Given the description of an element on the screen output the (x, y) to click on. 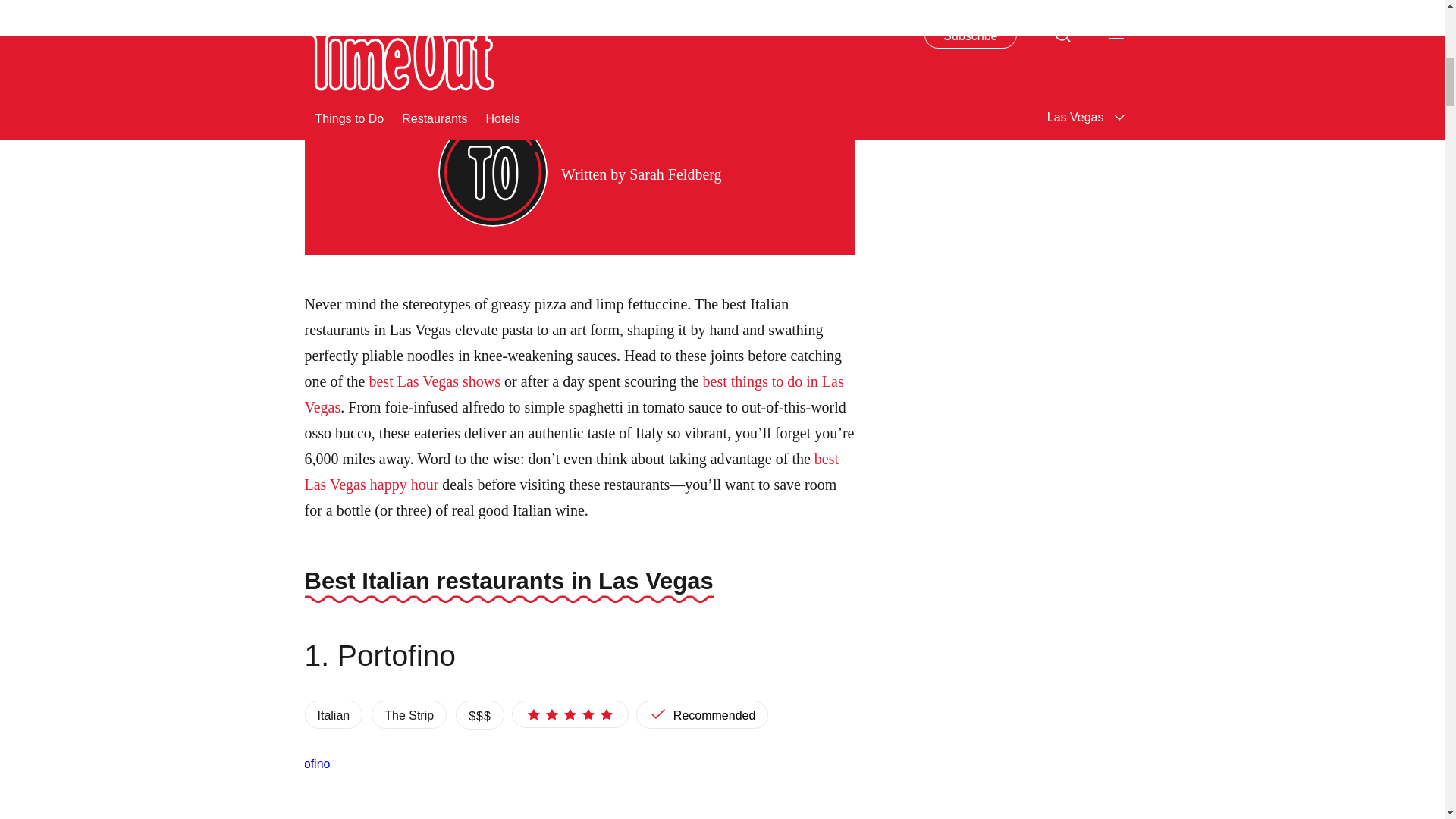
Portofino (568, 787)
